Given the description of an element on the screen output the (x, y) to click on. 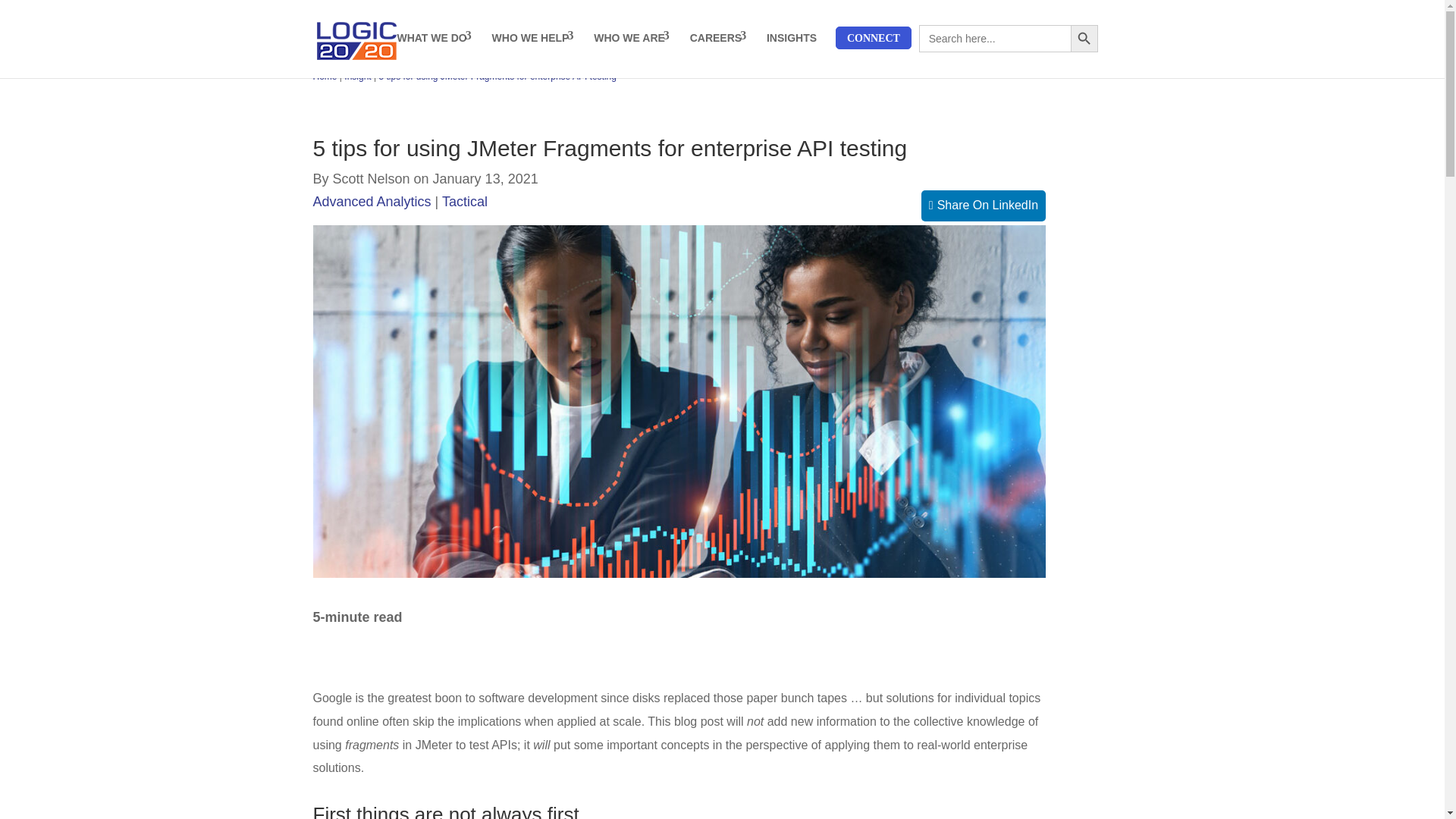
WHO WE HELP (533, 37)
Search Button (1083, 38)
WHO WE ARE (632, 37)
Go to the Insight Category archives. (357, 76)
CONNECT (873, 37)
CAREERS (718, 37)
WHAT WE DO (433, 37)
INSIGHTS (794, 37)
